Given the description of an element on the screen output the (x, y) to click on. 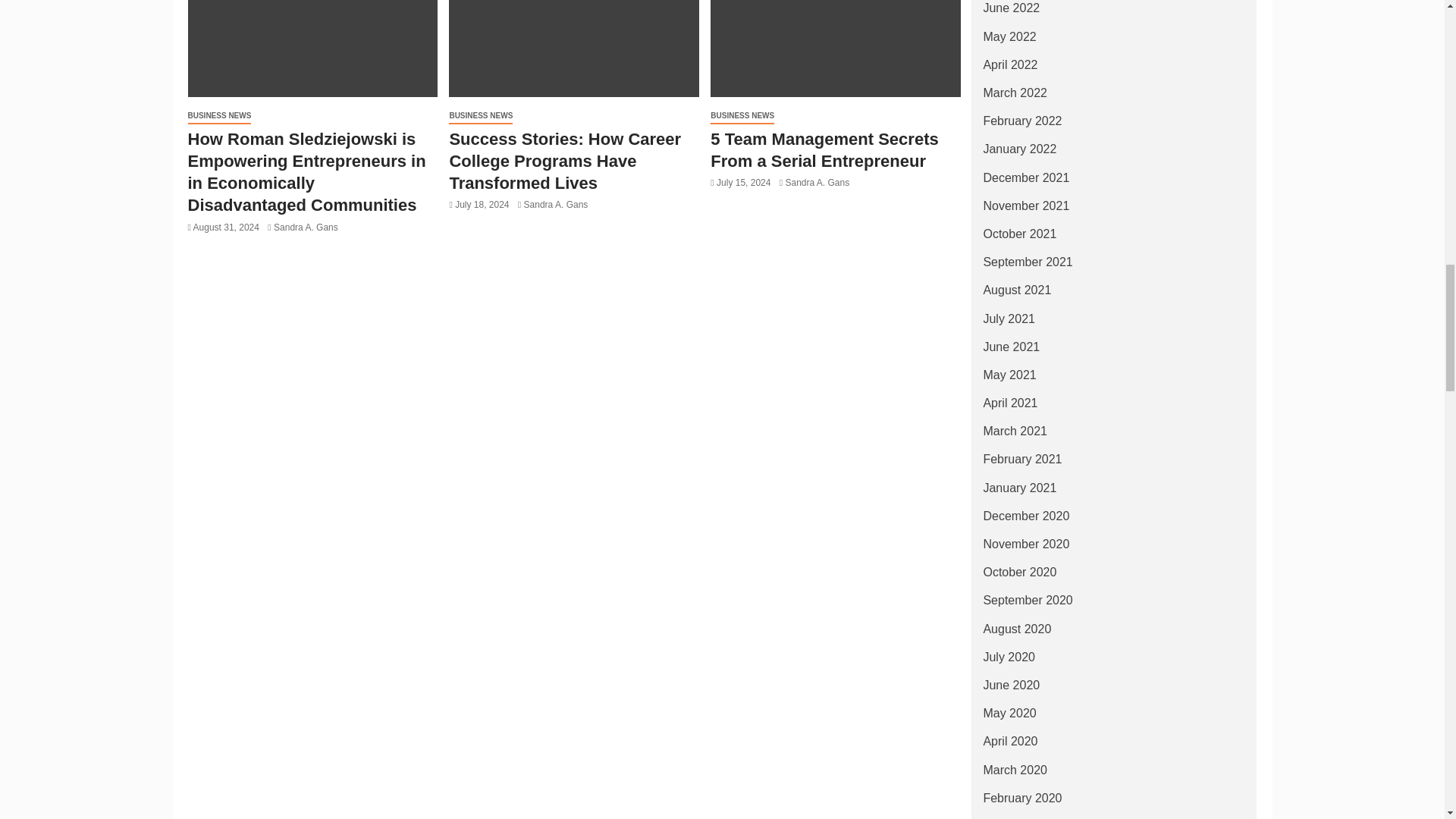
Sandra A. Gans (305, 226)
5 Team Management Secrets From a Serial Entrepreneur (835, 48)
BUSINESS NEWS (219, 116)
